Given the description of an element on the screen output the (x, y) to click on. 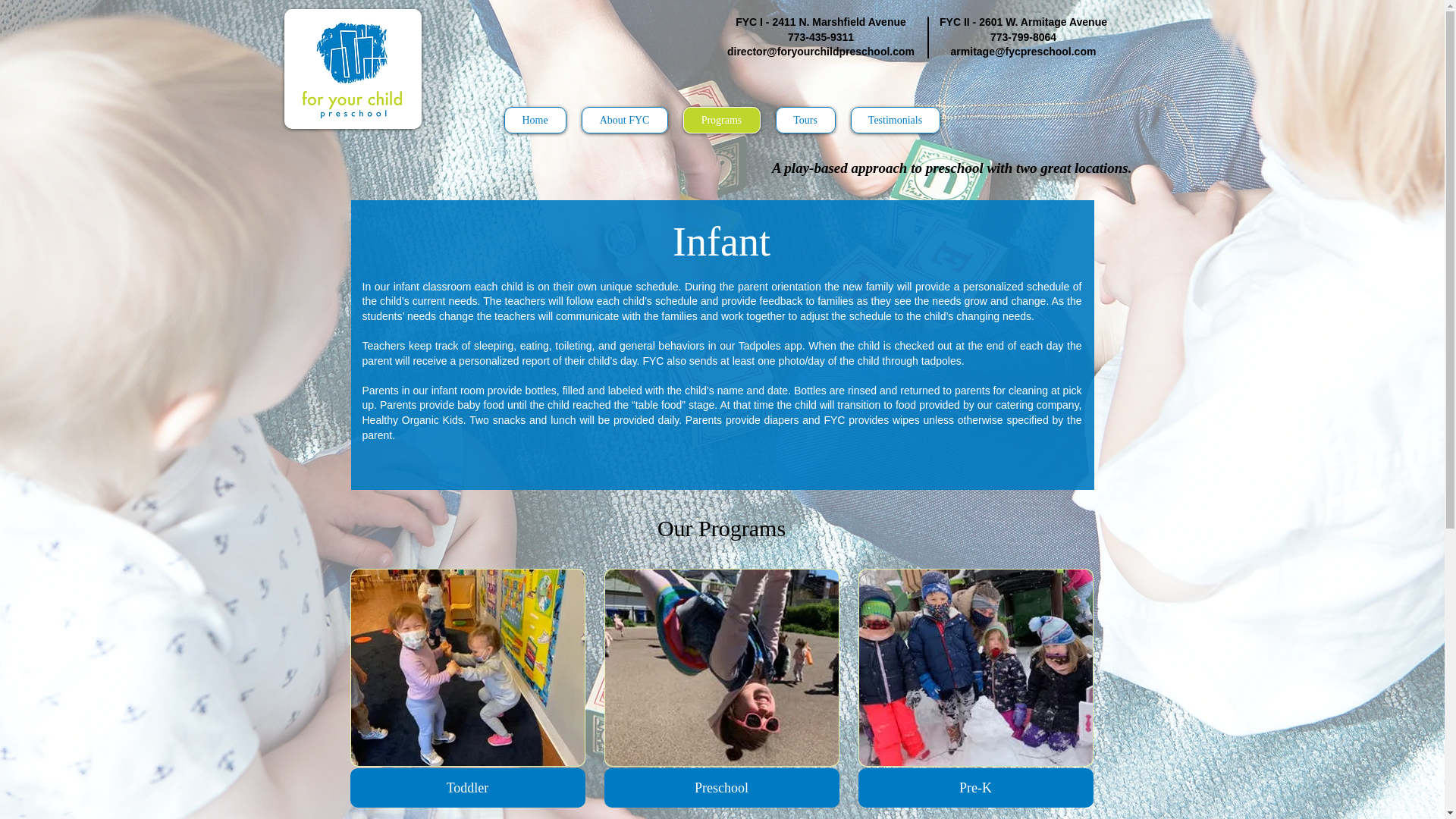
Programs (721, 120)
Testimonials (895, 120)
Pre-K (976, 687)
FYC II - 2601 W. Armitage Avenue (1022, 21)
About FYC (623, 120)
Toddler (467, 687)
Tours (804, 120)
Our Programs (722, 527)
Preschool (721, 687)
Home (534, 120)
